Given the description of an element on the screen output the (x, y) to click on. 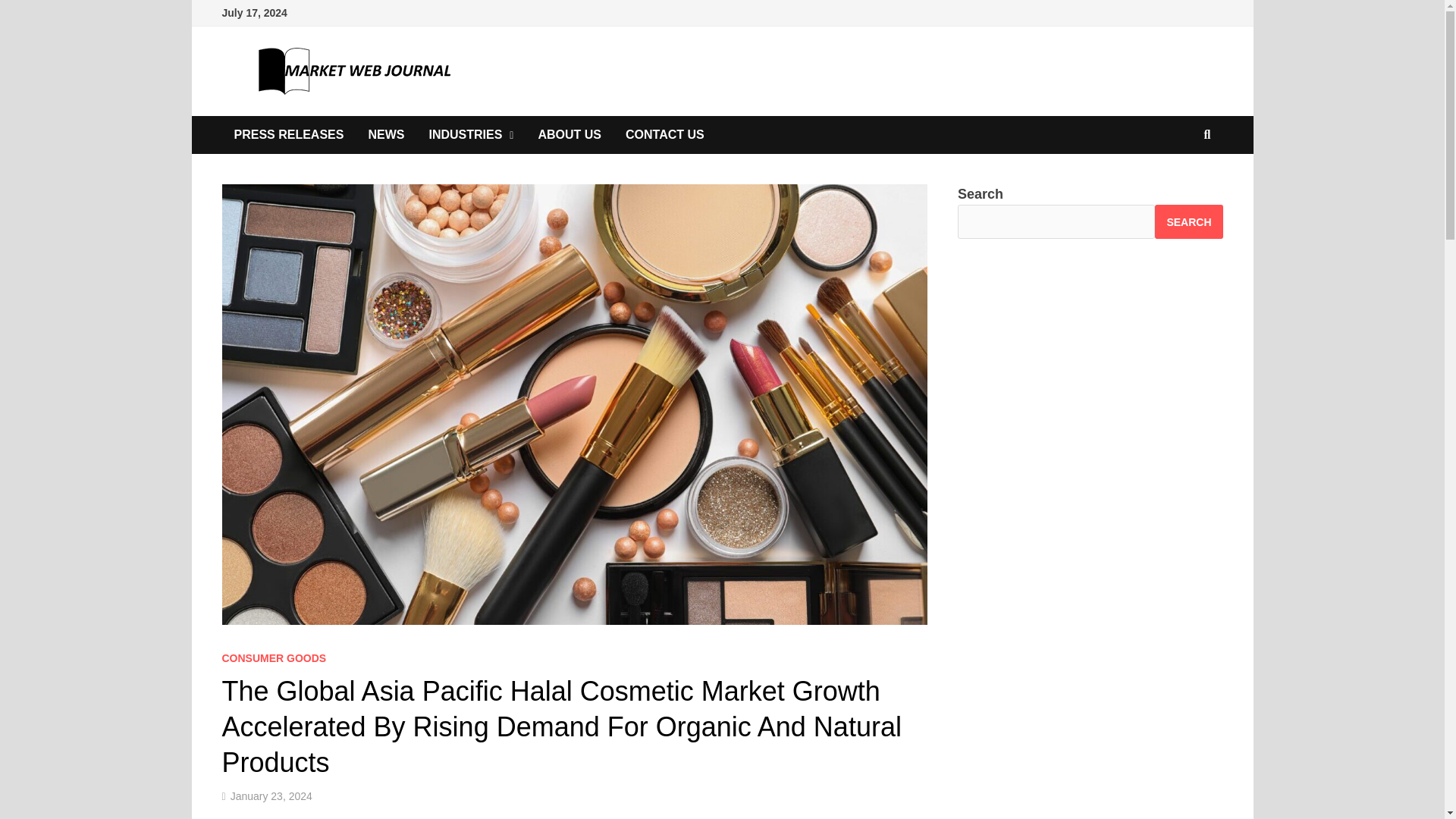
ABOUT US (568, 134)
INDUSTRIES (470, 134)
CONTACT US (664, 134)
NEWS (385, 134)
PRESS RELEASES (288, 134)
